Given the description of an element on the screen output the (x, y) to click on. 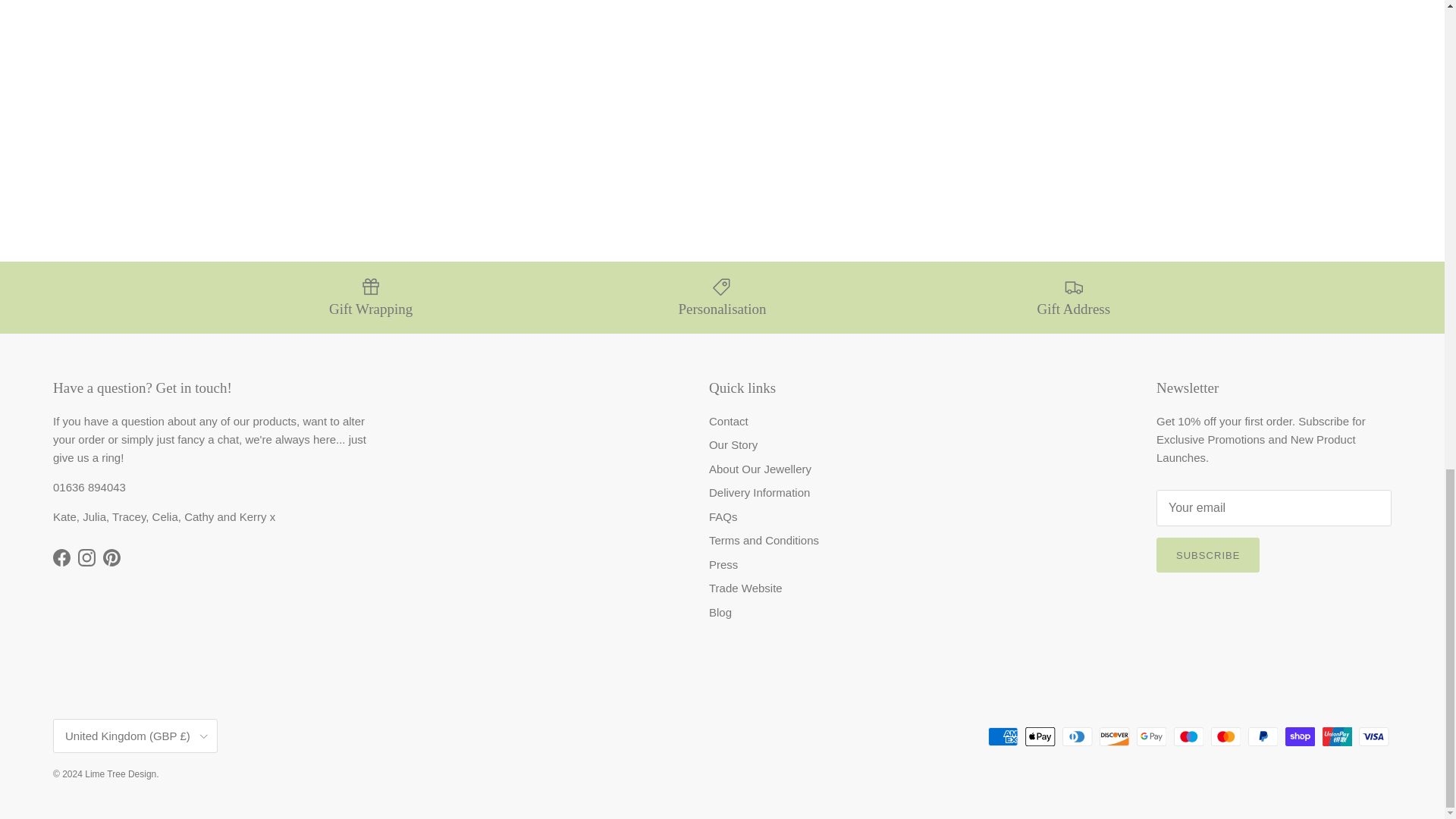
American Express (1002, 736)
Lime Tree Design on Instagram (87, 557)
Lime Tree Design on Facebook (60, 557)
Lime Tree Design on Pinterest (111, 557)
